Given the description of an element on the screen output the (x, y) to click on. 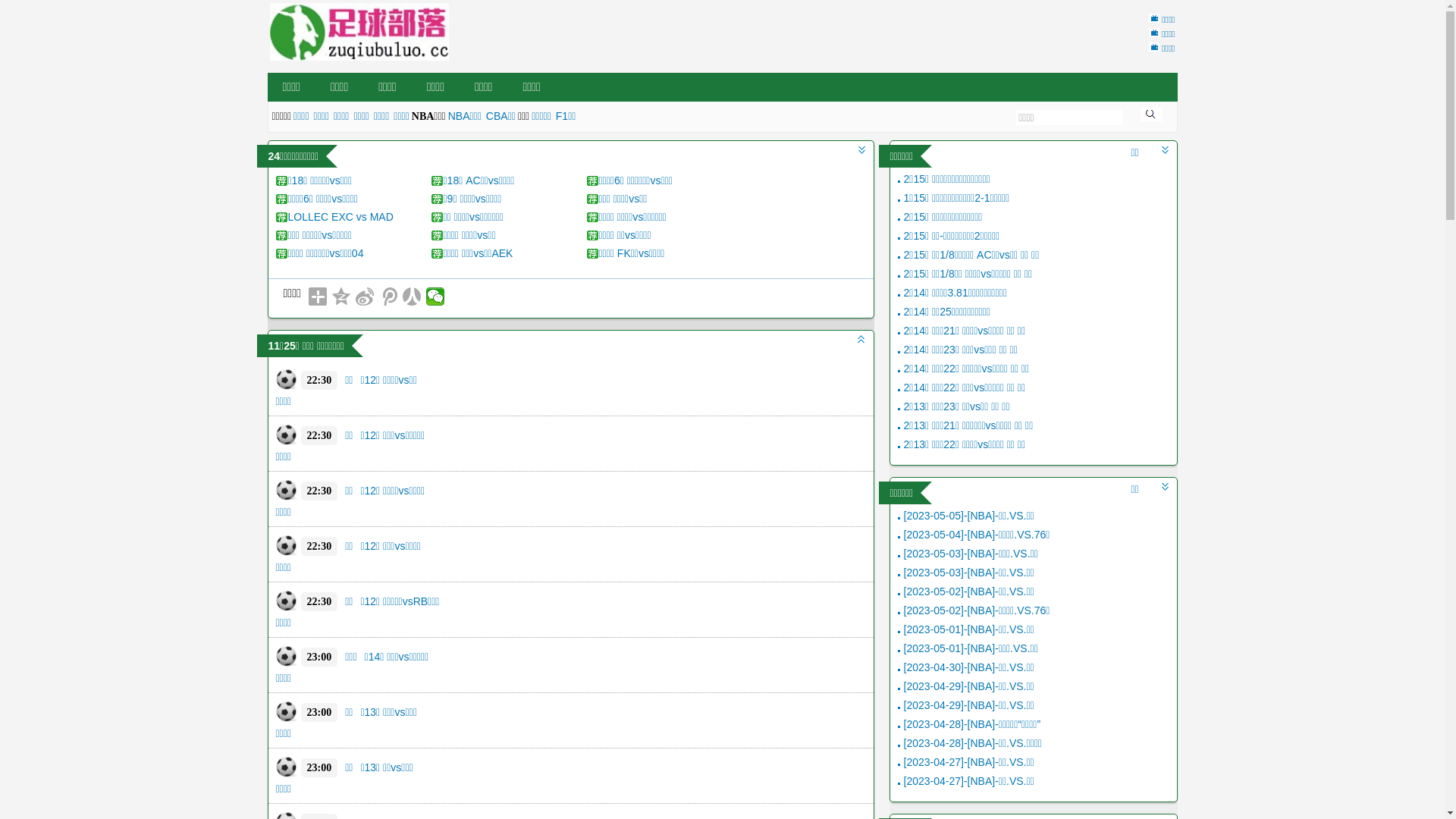
LOLLEC EXC vs MAD Element type: text (340, 216)
